Given the description of an element on the screen output the (x, y) to click on. 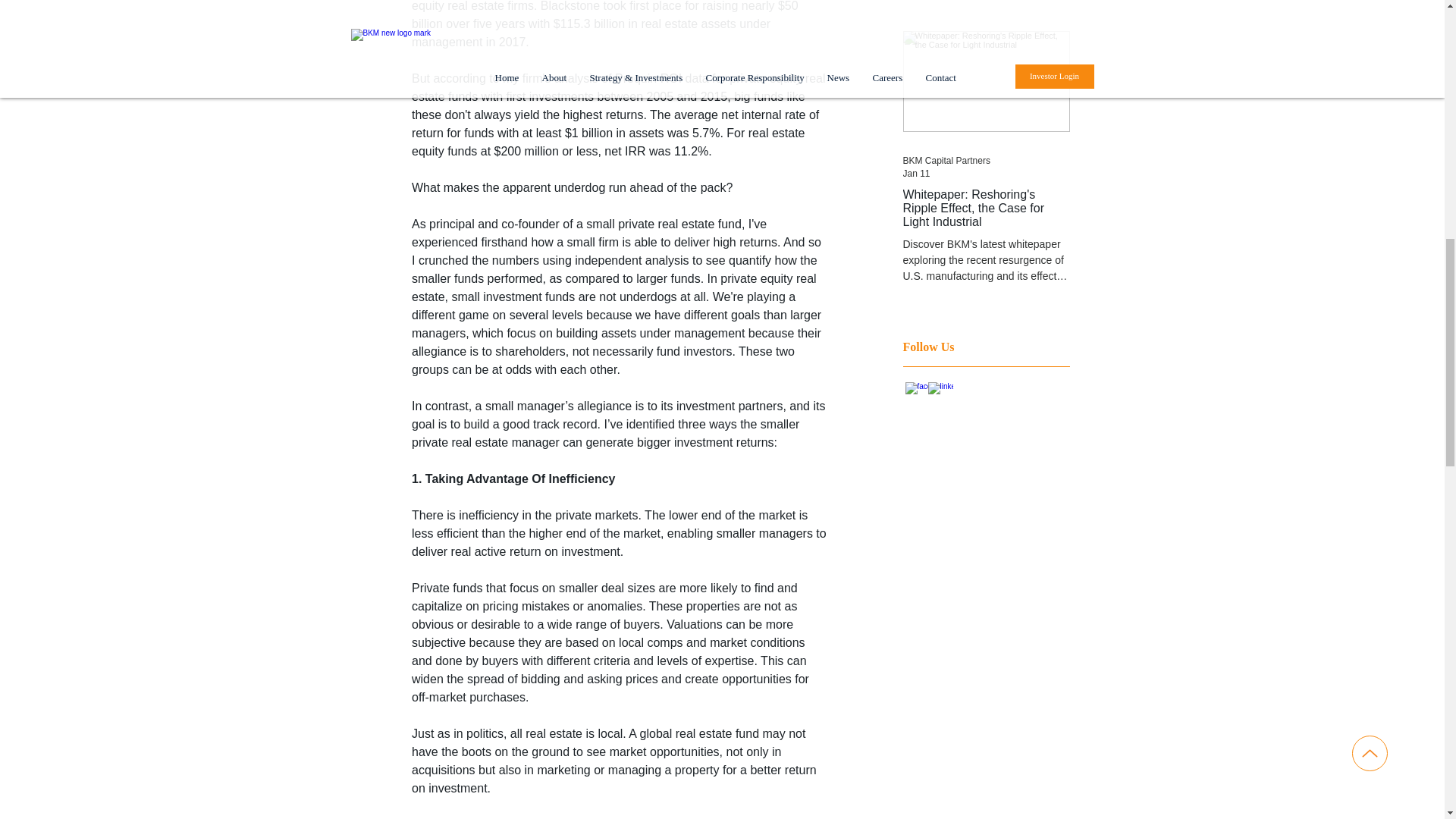
Jan 11 (916, 173)
BKM Capital Partners (946, 160)
